Given the description of an element on the screen output the (x, y) to click on. 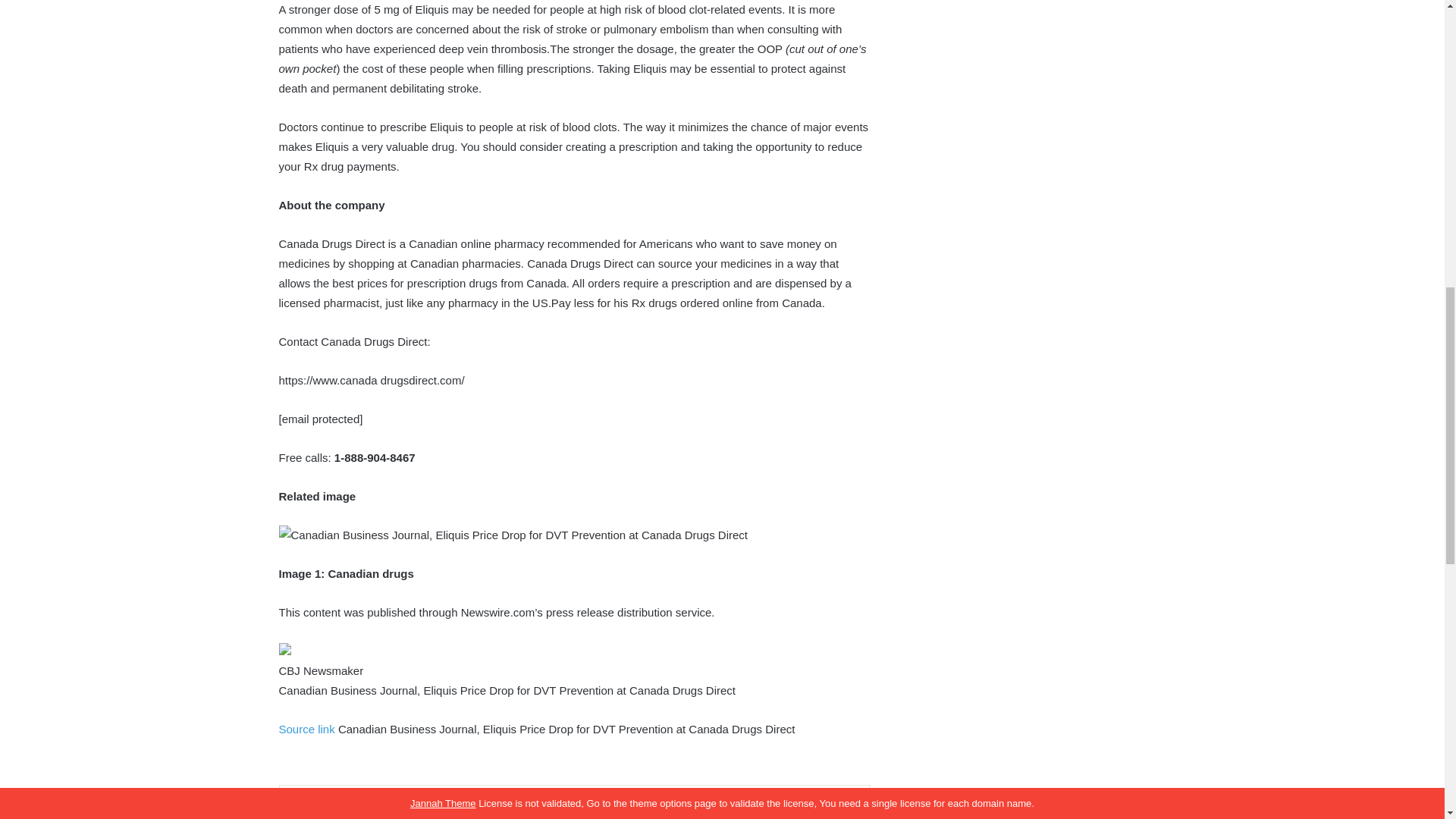
Tumblr (614, 808)
X (523, 808)
Skype (722, 808)
Pinterest (651, 808)
Skype (722, 808)
Pinterest (651, 808)
Facebook (434, 808)
Reddit (687, 808)
Reddit (687, 808)
Tumblr (614, 808)
Facebook (434, 808)
LinkedIn (579, 808)
LinkedIn (579, 808)
X (523, 808)
